Given the description of an element on the screen output the (x, y) to click on. 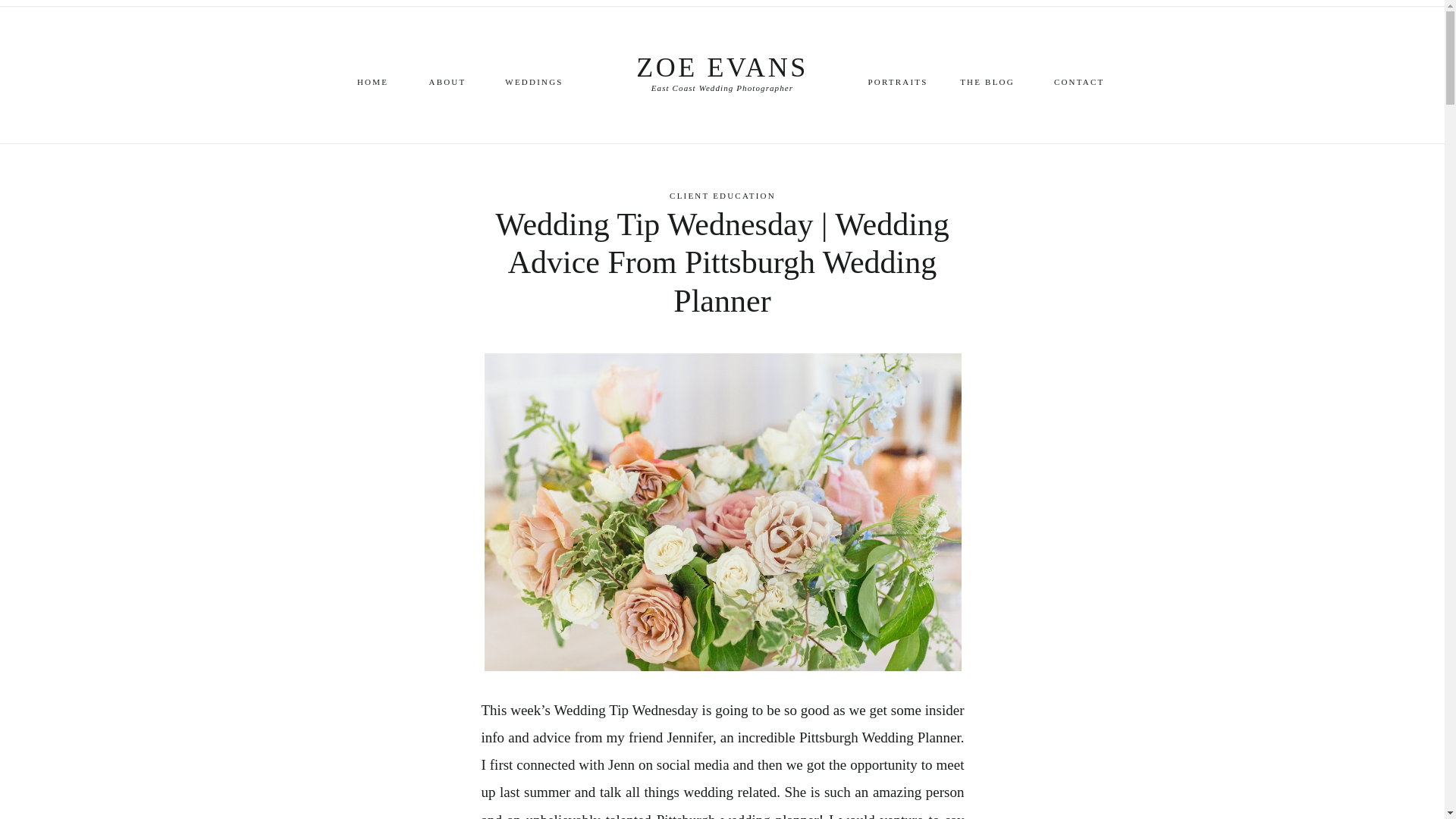
HOME (373, 80)
PORTRAITS (898, 80)
ABOUT (447, 80)
THE BLOG (986, 80)
CLIENT EDUCATION (722, 194)
WEDDINGS (533, 80)
CONTACT  (1080, 80)
